Given the description of an element on the screen output the (x, y) to click on. 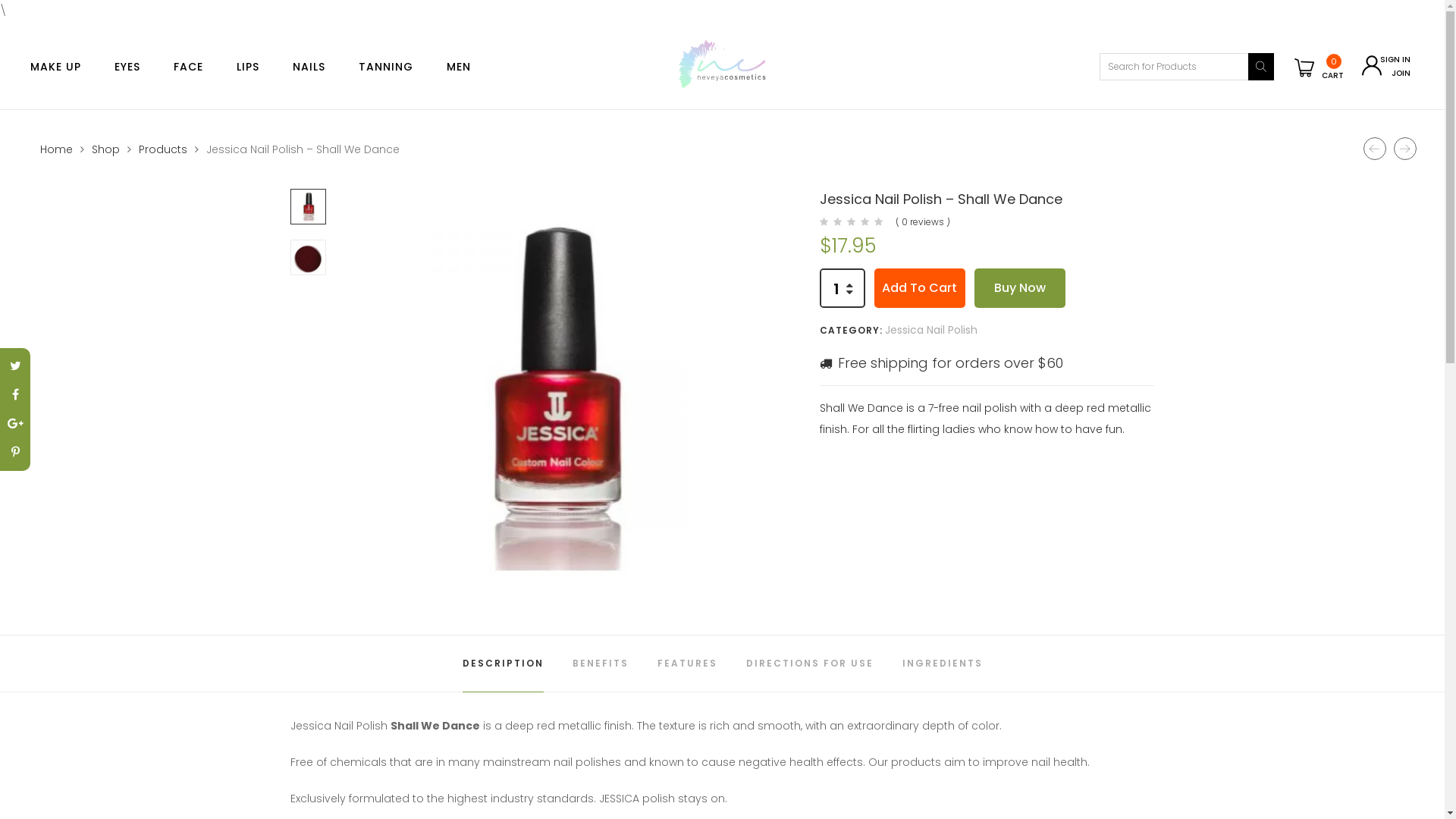
NAILS Element type: text (308, 66)
BENEFITS Element type: text (599, 663)
Home Element type: text (55, 148)
Facebook Element type: hover (14, 394)
FEATURES Element type: text (686, 663)
Jessica Nail Polish Element type: text (930, 329)
JOIN Element type: text (1400, 73)
Buy Now Element type: text (1019, 287)
Jessica Nail Polish Shall We Dance Bottle Element type: hover (550, 396)
Add To Cart Element type: text (919, 287)
EYES Element type: text (127, 66)
LIPS Element type: text (247, 66)
Products Element type: text (162, 148)
SIGN IN Element type: text (1395, 59)
Twitter Element type: hover (14, 365)
MEN Element type: text (458, 66)
MAKE UP Element type: text (55, 66)
TANNING Element type: text (385, 66)
Pinterest Element type: hover (14, 452)
Google Plus Element type: hover (14, 423)
DIRECTIONS FOR USE Element type: text (809, 663)
FACE Element type: text (188, 66)
Qty Element type: hover (836, 288)
( 0 reviews ) Element type: text (922, 221)
Shop Element type: text (105, 148)
DESCRIPTION Element type: text (502, 663)
INGREDIENTS Element type: text (942, 663)
